Given the description of an element on the screen output the (x, y) to click on. 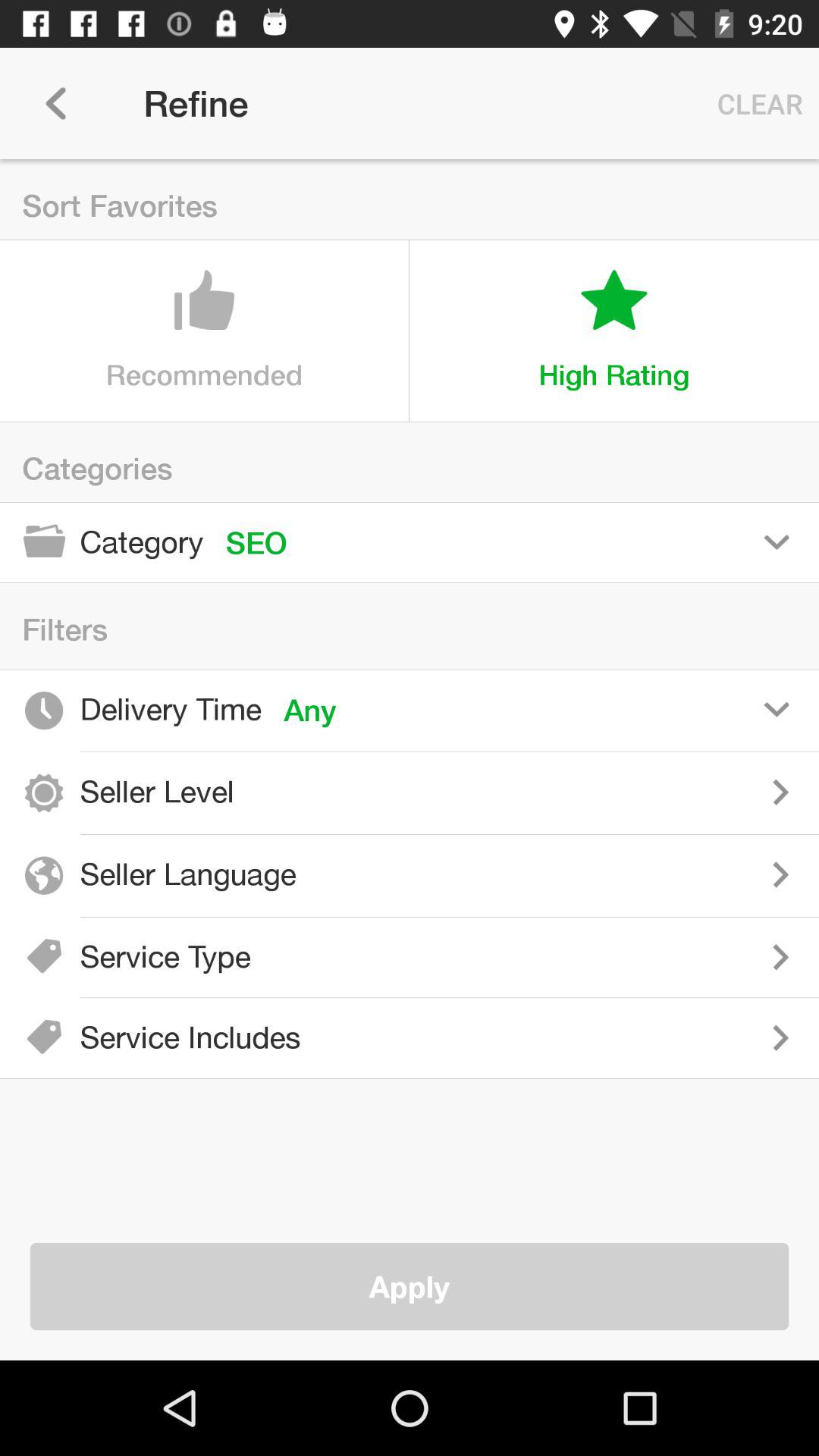
click for information (537, 791)
